Given the description of an element on the screen output the (x, y) to click on. 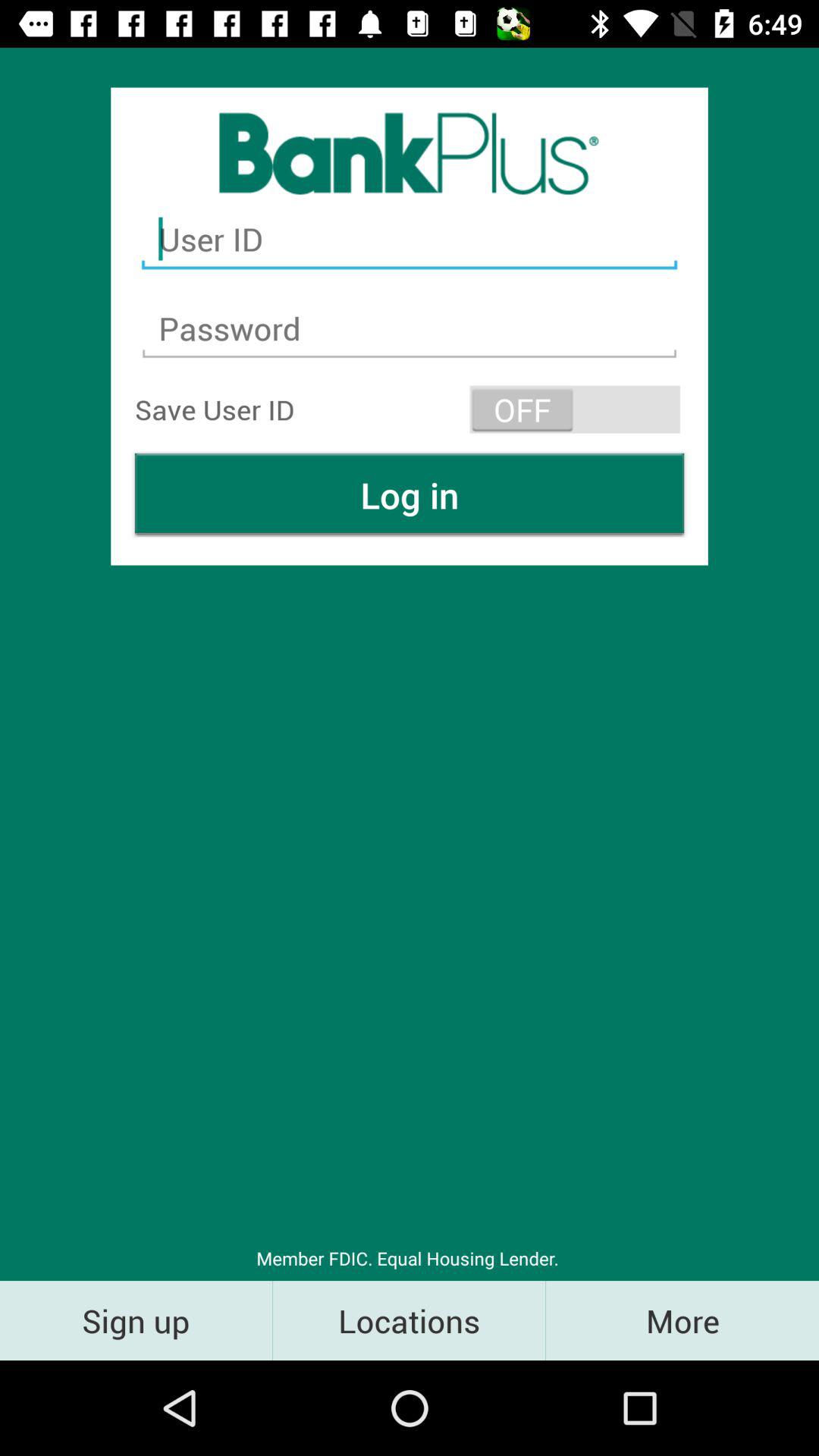
open item to the right of save user id (574, 409)
